Given the description of an element on the screen output the (x, y) to click on. 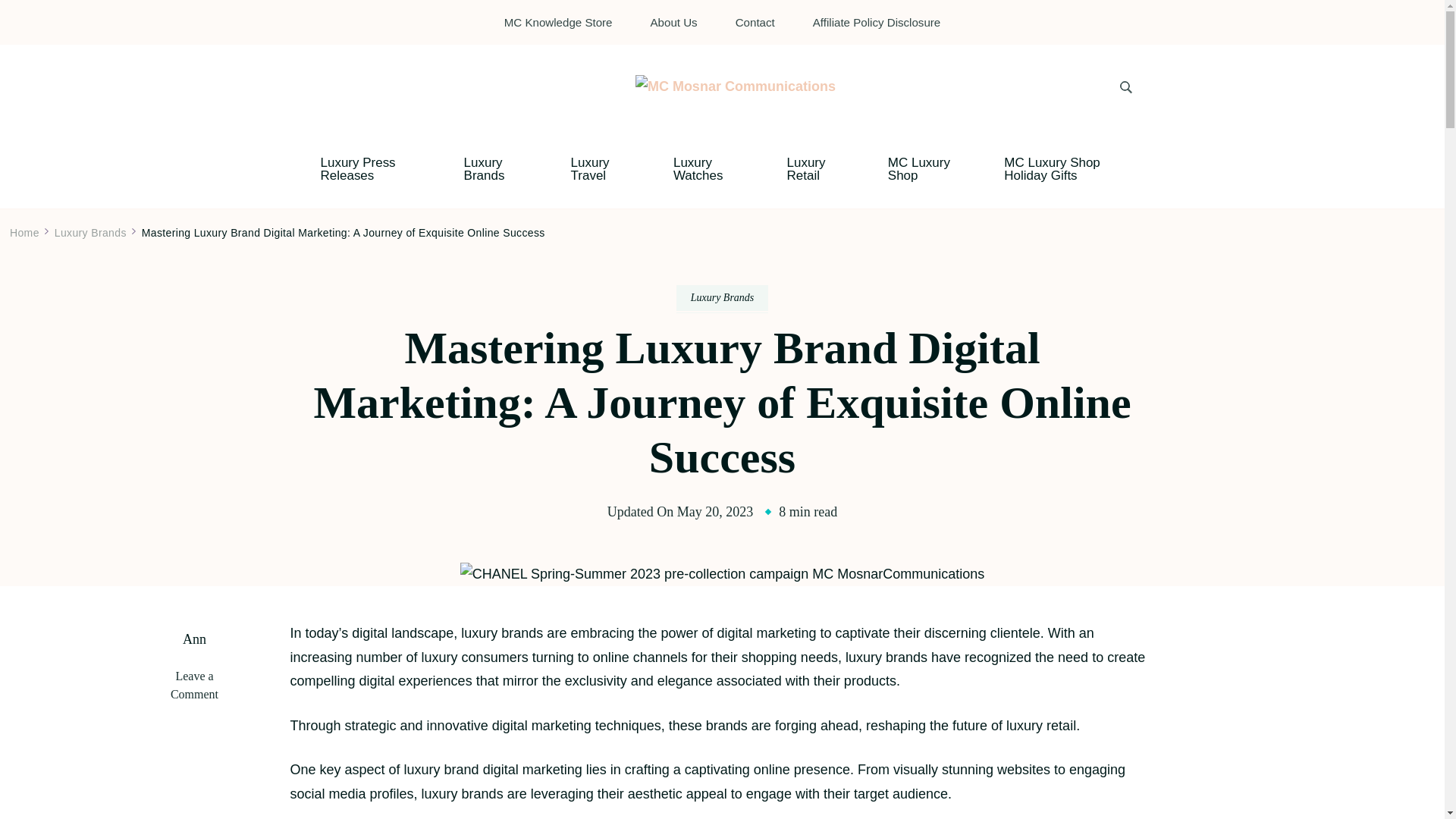
Luxury Travel (598, 168)
Luxury Watches (706, 168)
Luxury Retail (815, 168)
MC Luxury Shop Holiday Gifts (1067, 168)
MC Mosnar Communications (780, 113)
MC Knowledge Store (557, 21)
About Us (673, 21)
Luxury Brands (494, 168)
Affiliate Policy Disclosure (876, 21)
MC Luxury Shop (923, 168)
Luxury Press Releases (368, 168)
Contact (754, 21)
